Given the description of an element on the screen output the (x, y) to click on. 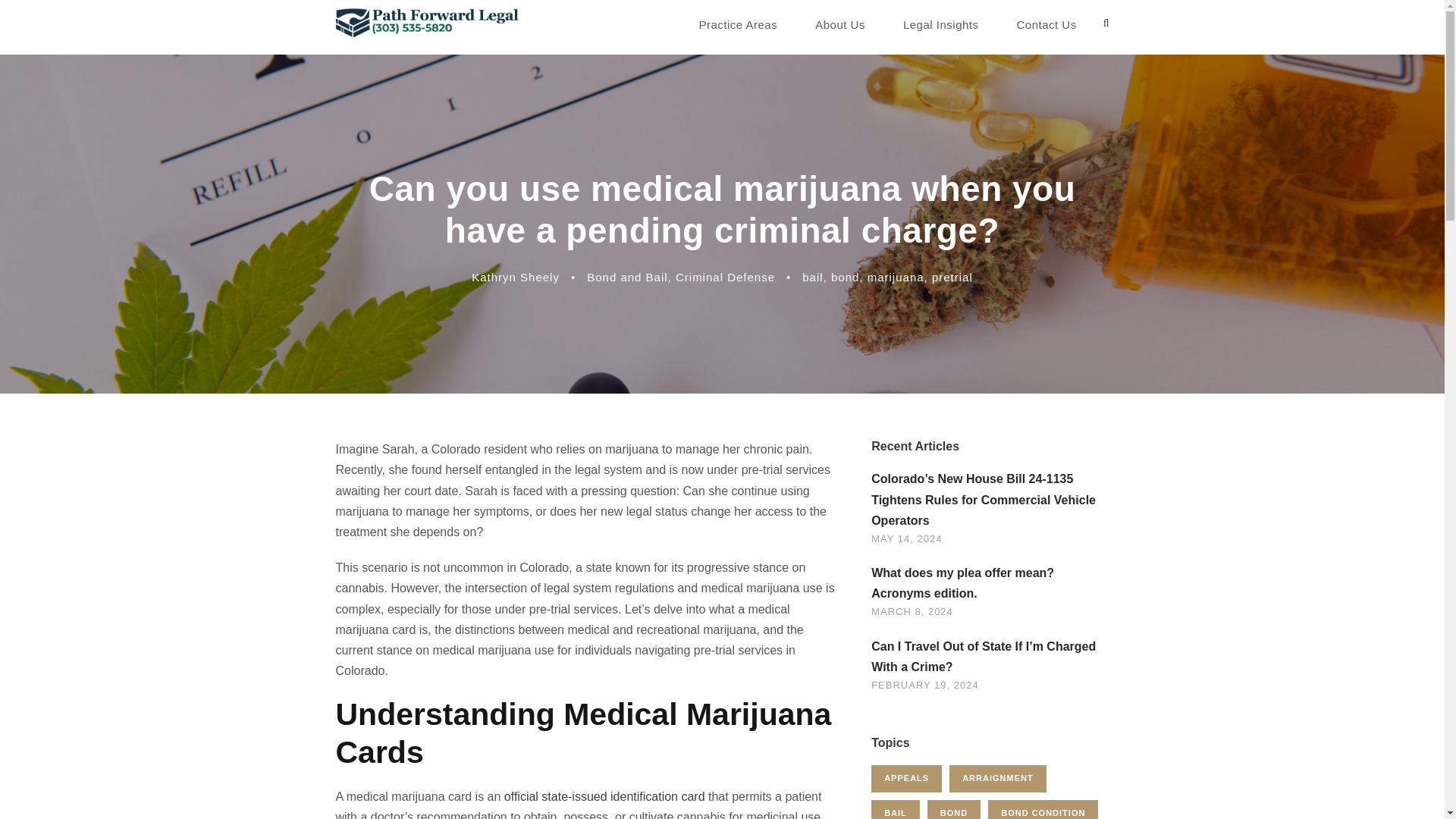
bail (812, 277)
marijuana (895, 277)
pretrial (951, 277)
Criminal Defense (724, 277)
official state-issued identification card (603, 796)
Legal Insights (940, 25)
bond (845, 277)
Contact Us (1045, 25)
Kathryn Sheely (515, 277)
Practice Areas (737, 25)
